Given the description of an element on the screen output the (x, y) to click on. 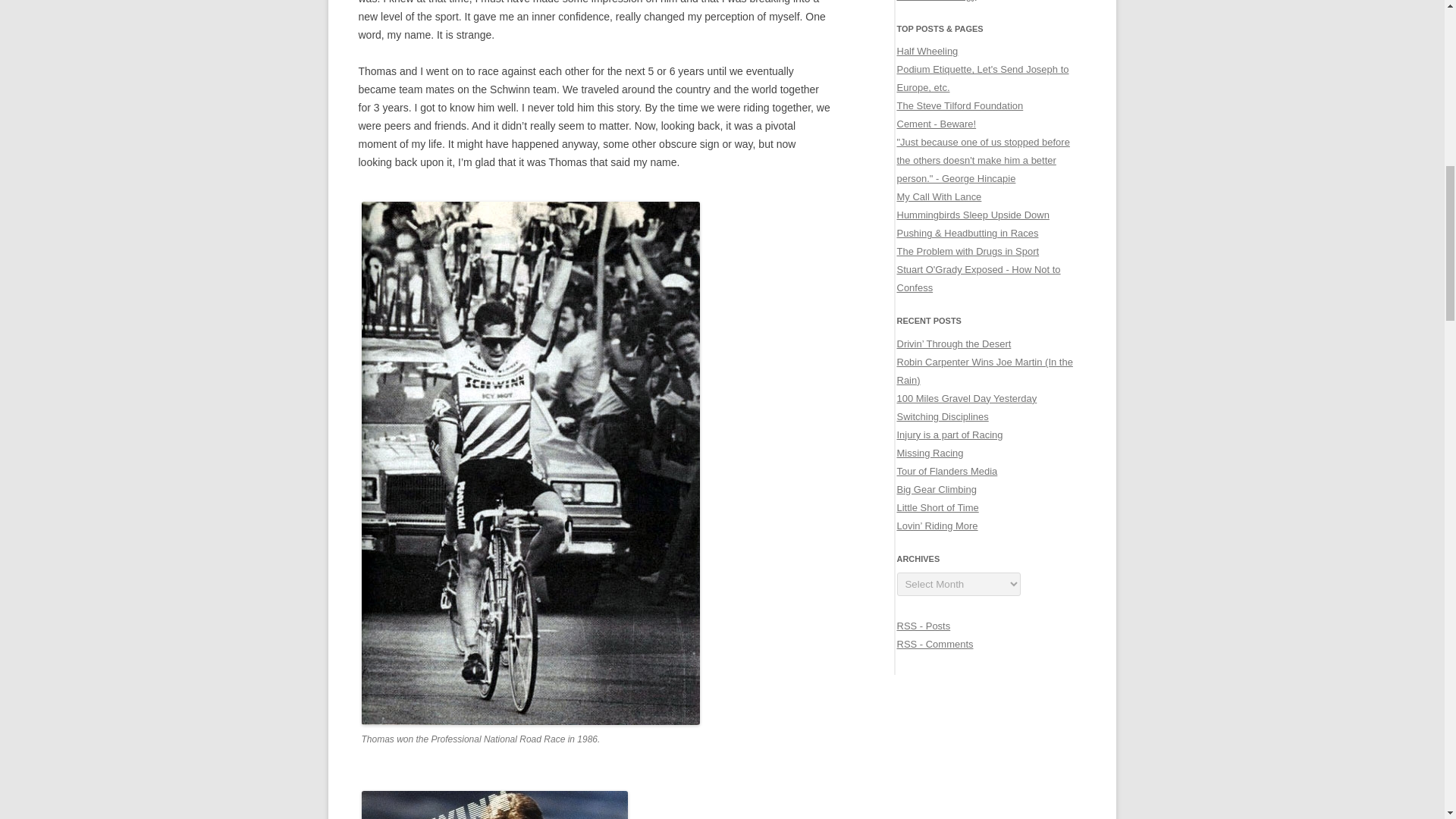
thomas1 (494, 805)
